Given the description of an element on the screen output the (x, y) to click on. 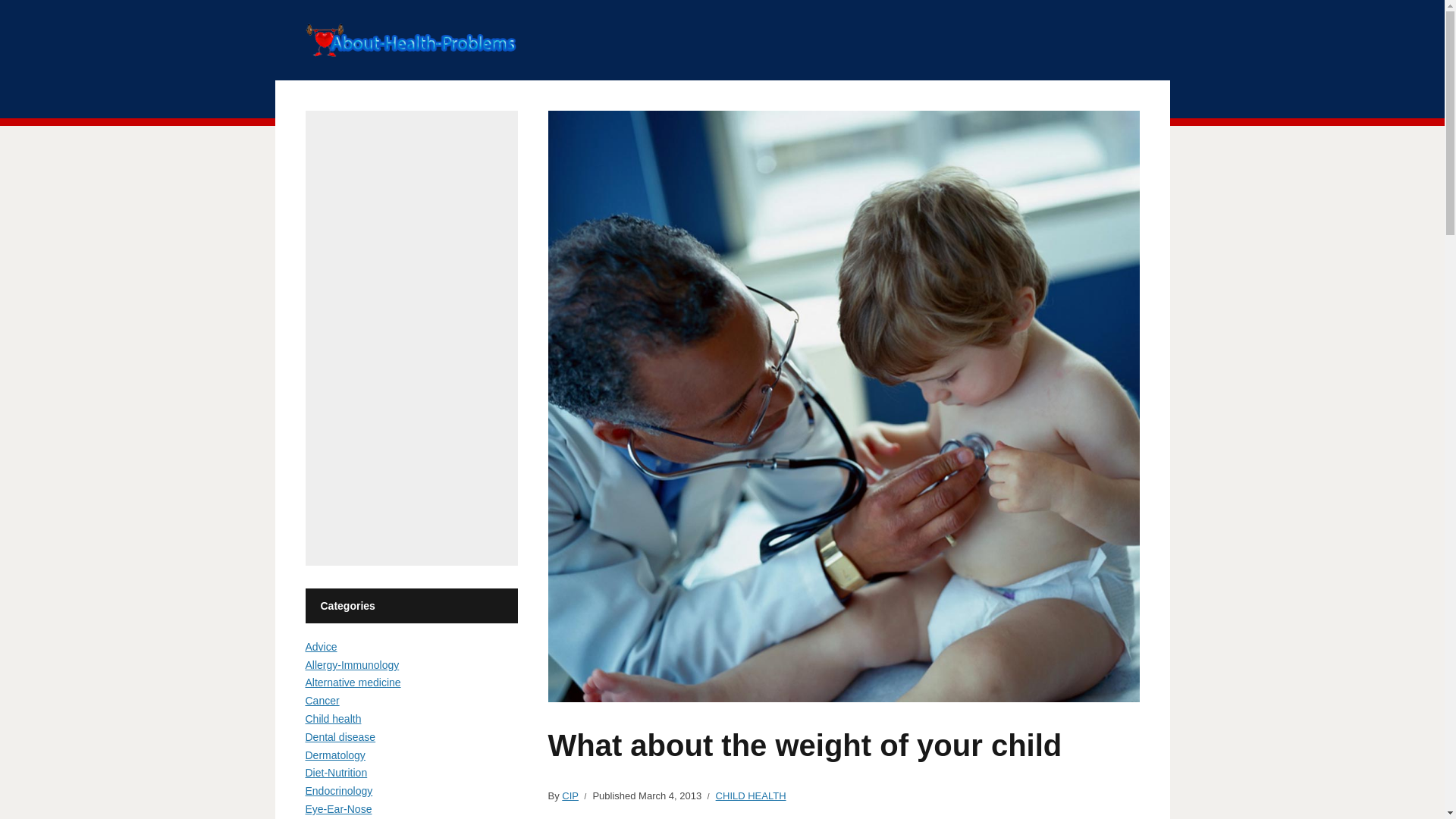
Advice (320, 646)
Cancer (321, 700)
Eye-Ear-Nose (337, 808)
Allergy-Immunology (351, 664)
Alternative medicine (352, 682)
CHILD HEALTH (751, 796)
CIP (570, 796)
Diet-Nutrition (335, 772)
Dental disease (339, 736)
Posts by cip (570, 796)
